Given the description of an element on the screen output the (x, y) to click on. 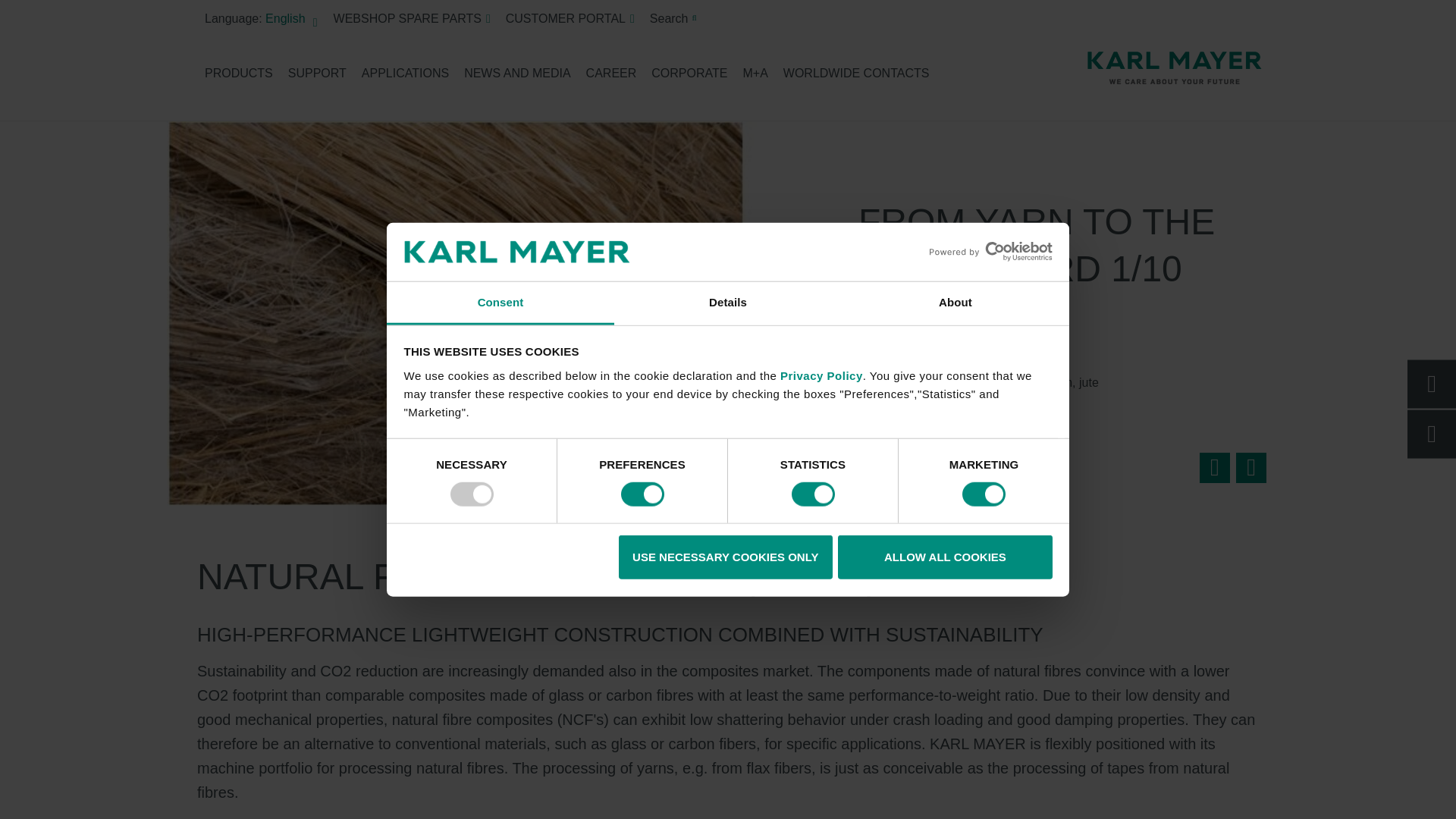
About (954, 303)
Consent (500, 303)
Details (727, 303)
Privacy Policy (821, 375)
